Given the description of an element on the screen output the (x, y) to click on. 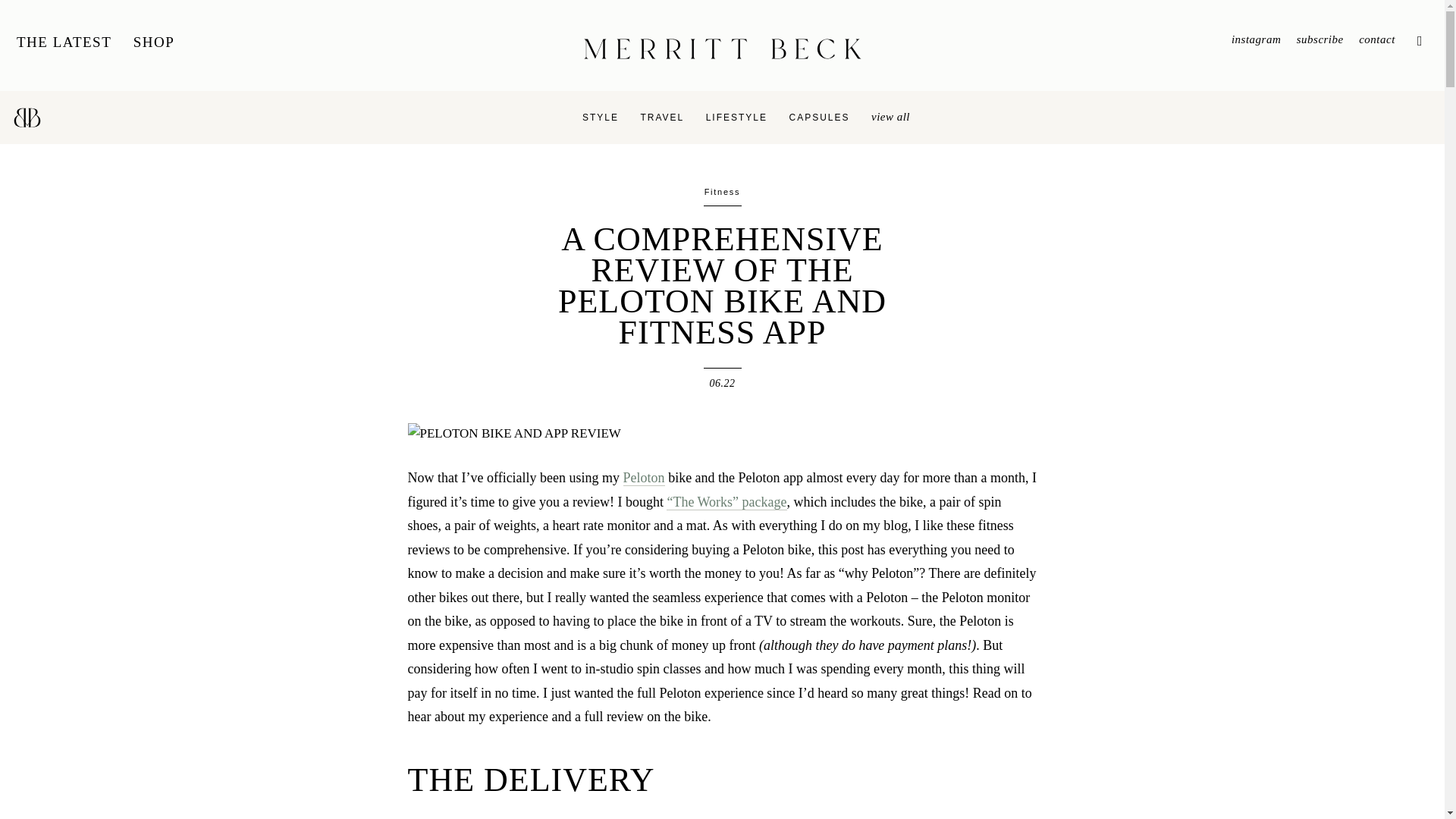
STYLE (600, 117)
view all (890, 116)
contact (1376, 39)
Fitness (722, 191)
LIFESTYLE (736, 117)
instagram (1256, 39)
Peloton (644, 478)
TRAVEL (662, 117)
THE LATEST (64, 41)
subscribe (1320, 39)
SHOP (153, 41)
CAPSULES (818, 117)
